Given the description of an element on the screen output the (x, y) to click on. 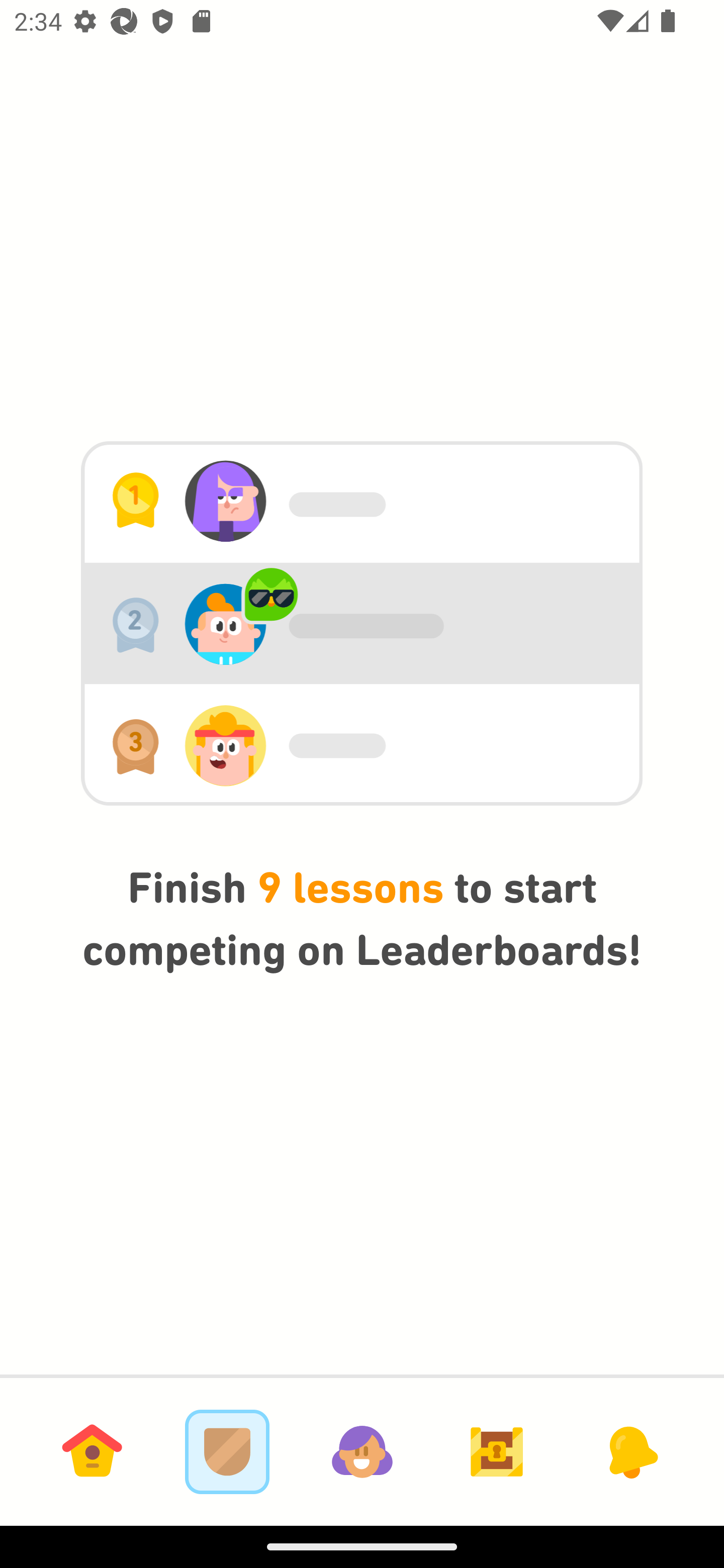
Learn Tab (91, 1451)
Leagues Tab (227, 1451)
Profile Tab (361, 1451)
Goals Tab (496, 1451)
News Tab (631, 1451)
